Given the description of an element on the screen output the (x, y) to click on. 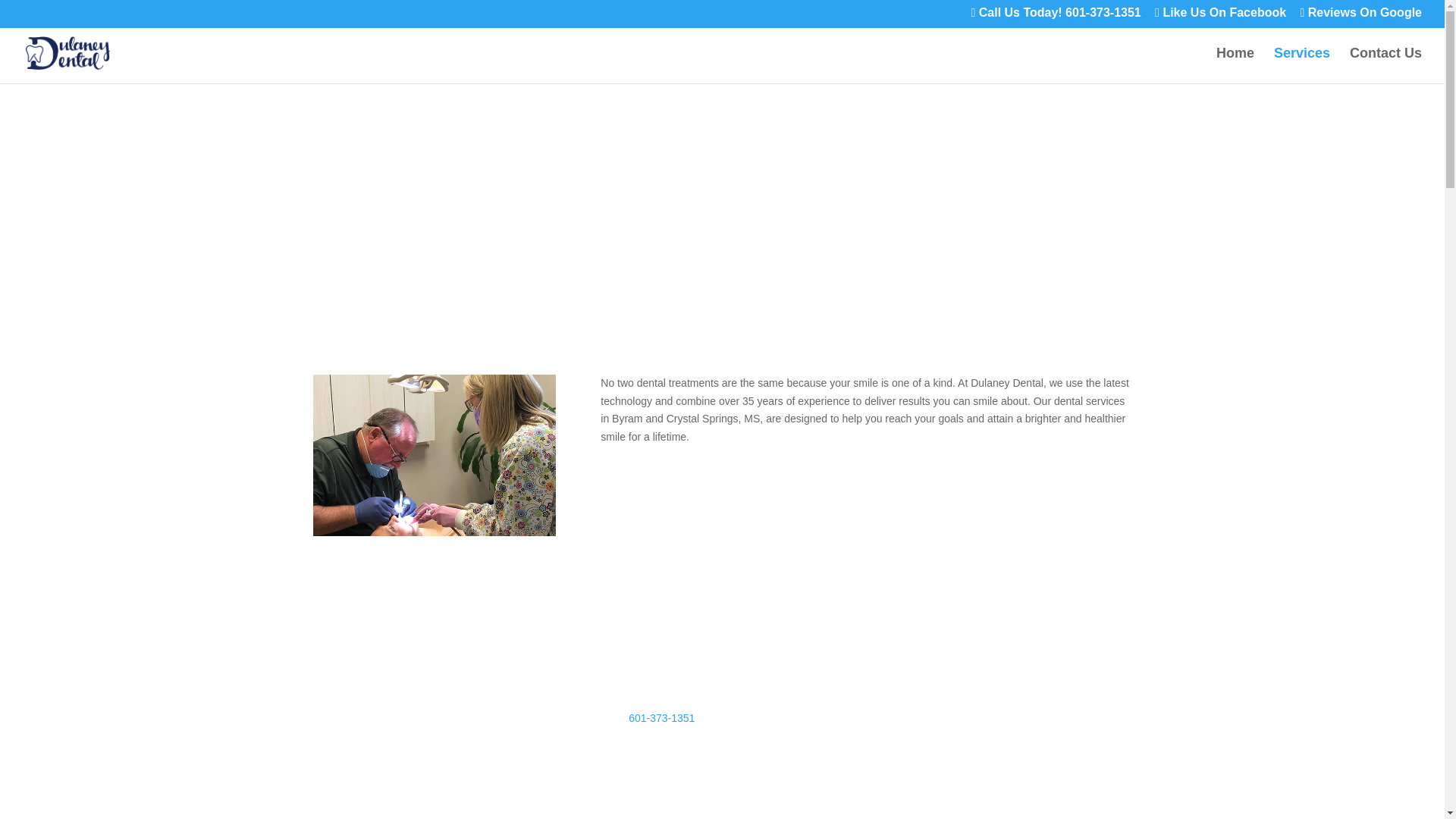
Call Us Today! 601-373-1351 (1055, 16)
Reviews On Google (1361, 16)
601-373-1351 (661, 717)
Contact Us (1385, 65)
Like Us On Facebook (1219, 16)
Home (1234, 65)
Services (1302, 65)
